Given the description of an element on the screen output the (x, y) to click on. 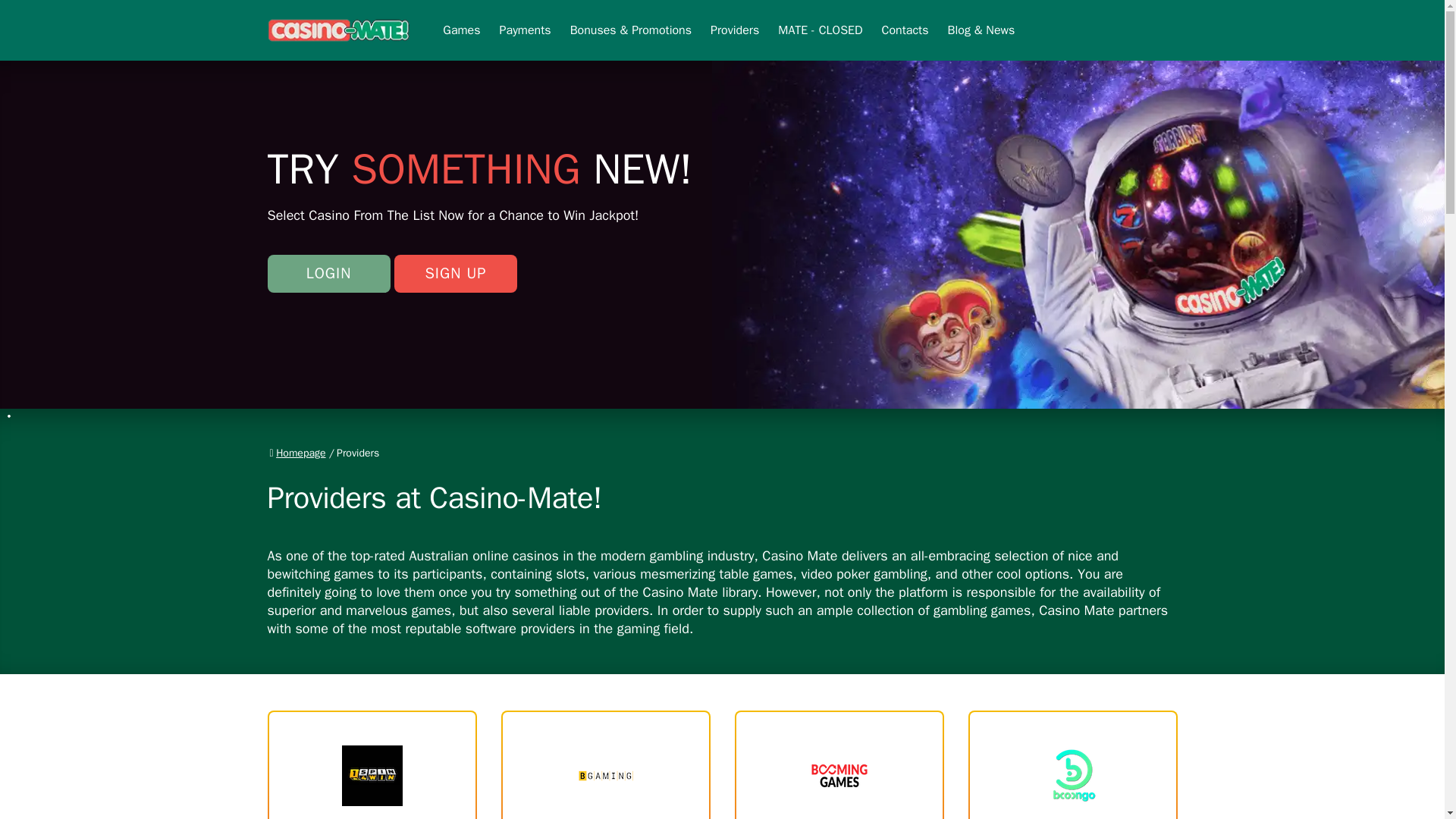
Providers (734, 29)
Casino Mate SingUp - 2024 (455, 233)
Casino Mate (338, 30)
  Homepage (297, 453)
MATE - CLOSED (819, 29)
LOGIN (838, 764)
SIGN UP (328, 233)
Booming (455, 233)
1spin4win (838, 764)
